Given the description of an element on the screen output the (x, y) to click on. 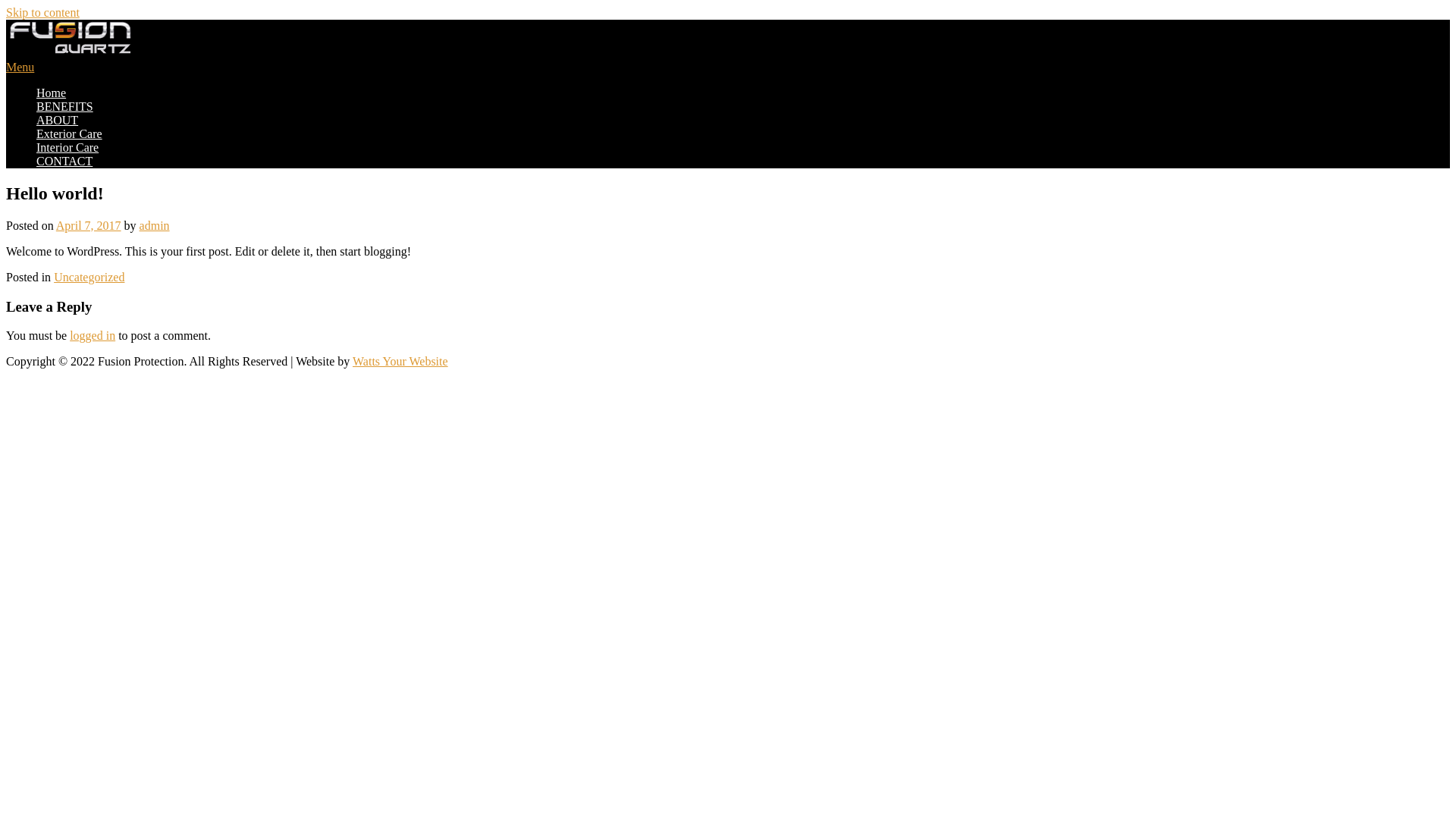
April 7, 2017 Element type: text (88, 225)
Uncategorized Element type: text (88, 276)
Skip to content Element type: text (42, 12)
Exterior Care Element type: text (69, 133)
BENEFITS Element type: text (64, 106)
Interior Care Element type: text (67, 147)
logged in Element type: text (92, 335)
CONTACT Element type: text (64, 160)
ABOUT Element type: text (57, 119)
Home Element type: text (50, 92)
admin Element type: text (154, 225)
Watts Your Website Element type: text (400, 360)
Menu Element type: text (20, 66)
